Given the description of an element on the screen output the (x, y) to click on. 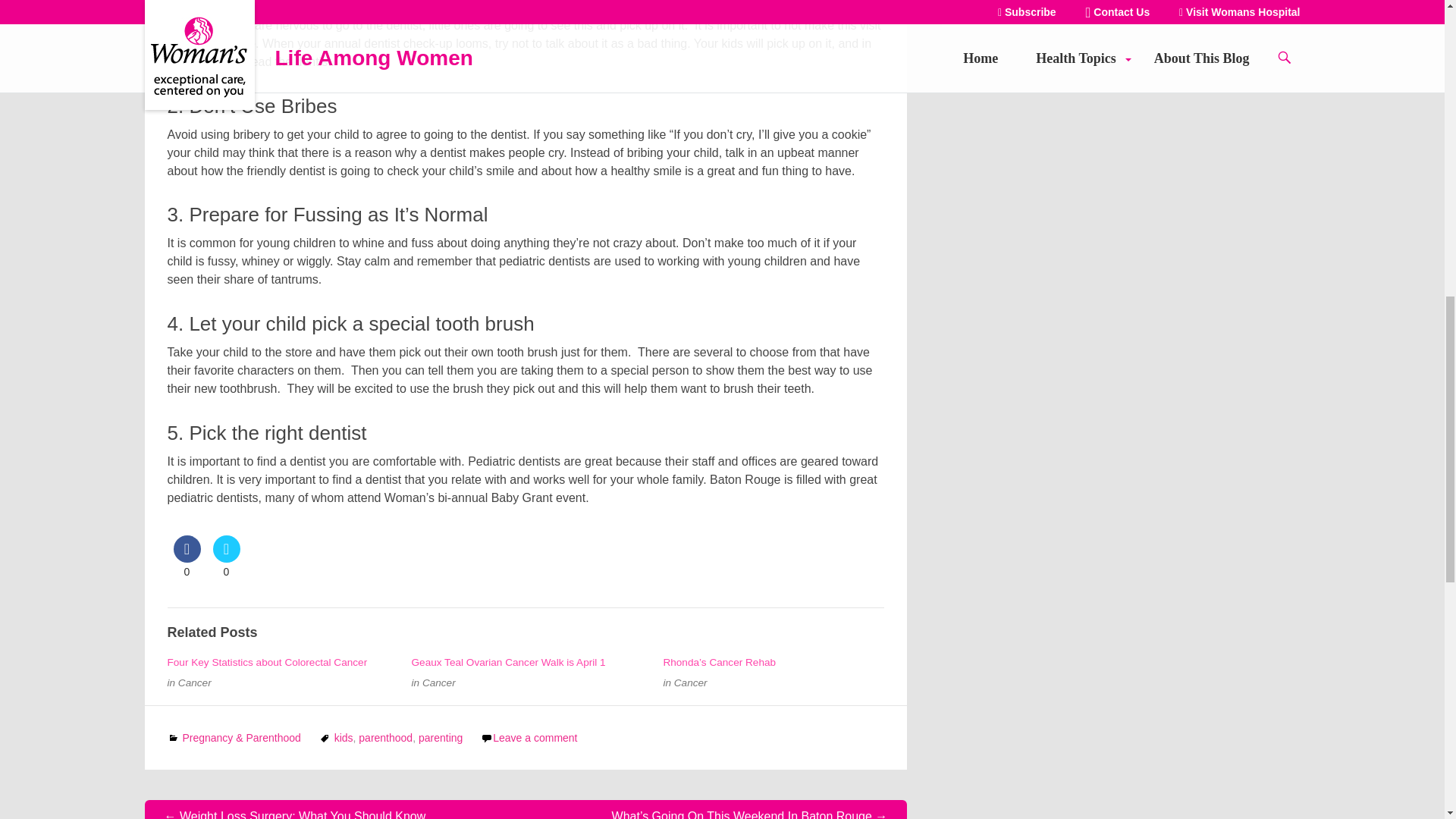
Cancer (690, 682)
Four Key Statistics about Colorectal Cancer (266, 662)
kids (343, 737)
Geaux Teal Ovarian Cancer Walk is April 1 (508, 662)
Leave a comment (534, 737)
Cancer (194, 682)
parenting (441, 737)
parenthood (385, 737)
Cancer (438, 682)
